Given the description of an element on the screen output the (x, y) to click on. 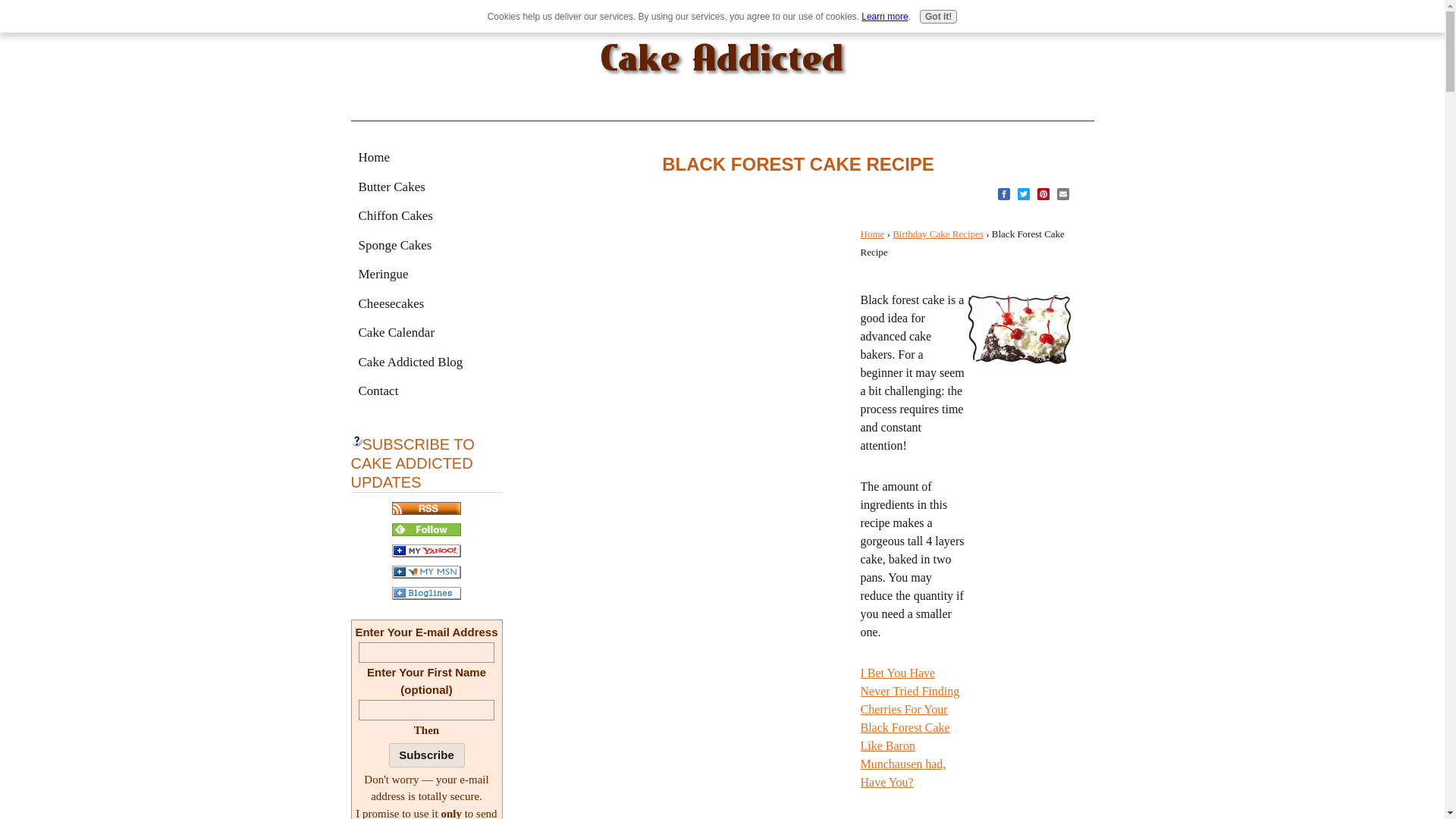
Meringue (426, 274)
Birthday Cake Recipes (938, 233)
Cheesecakes (426, 302)
Subscribe (426, 754)
Home (426, 157)
Home (871, 233)
Chiffon Cakes (426, 216)
Got it! (938, 16)
Sponge Cakes (426, 245)
Contact (426, 390)
